Given the description of an element on the screen output the (x, y) to click on. 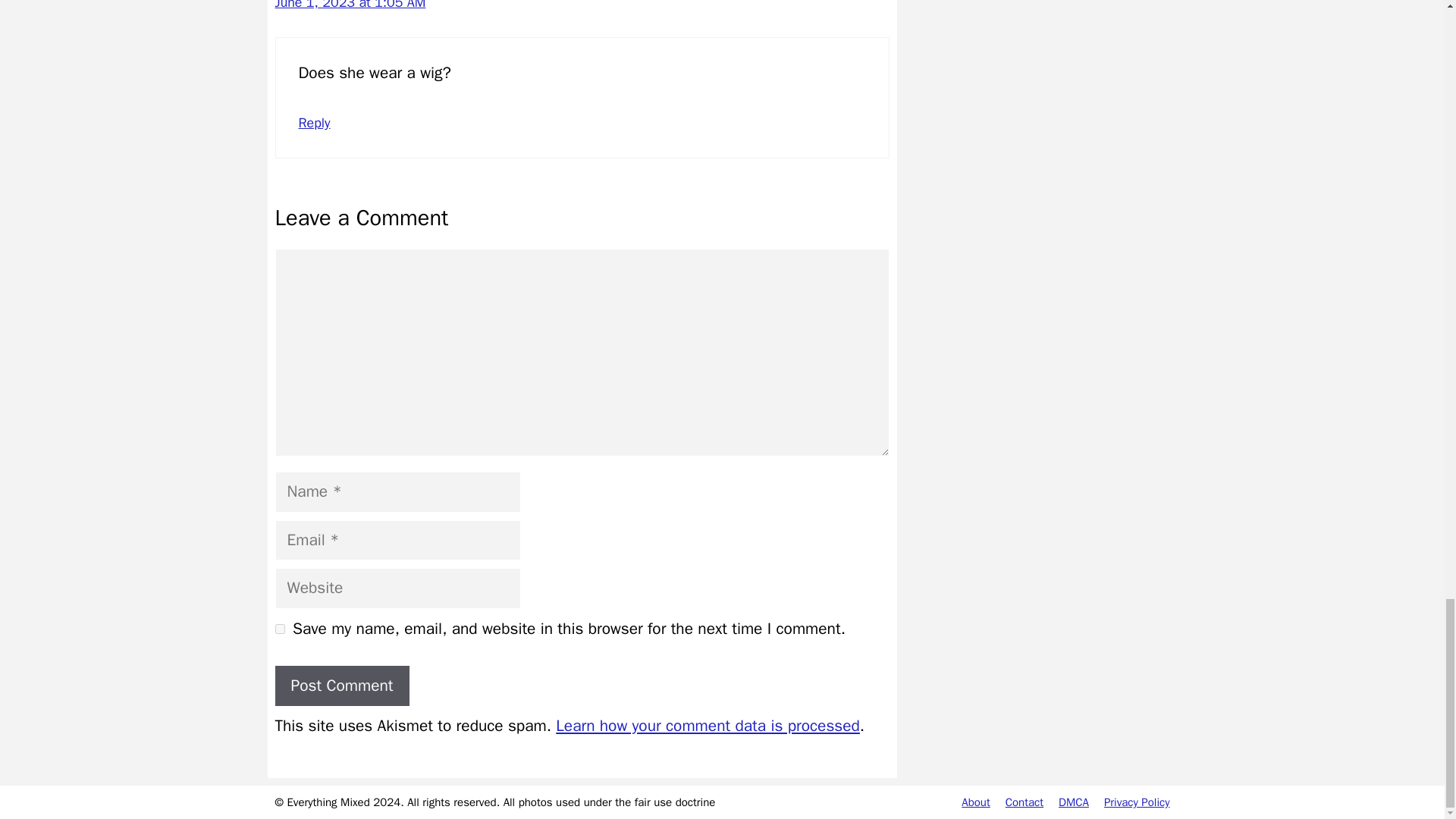
June 1, 2023 at 1:05 AM (350, 5)
Post Comment (342, 685)
Contact (1024, 802)
DMCA (1073, 802)
Privacy Policy (1136, 802)
Learn how your comment data is processed (708, 725)
Post Comment (342, 685)
Reply (314, 122)
yes (279, 628)
About (975, 802)
